Given the description of an element on the screen output the (x, y) to click on. 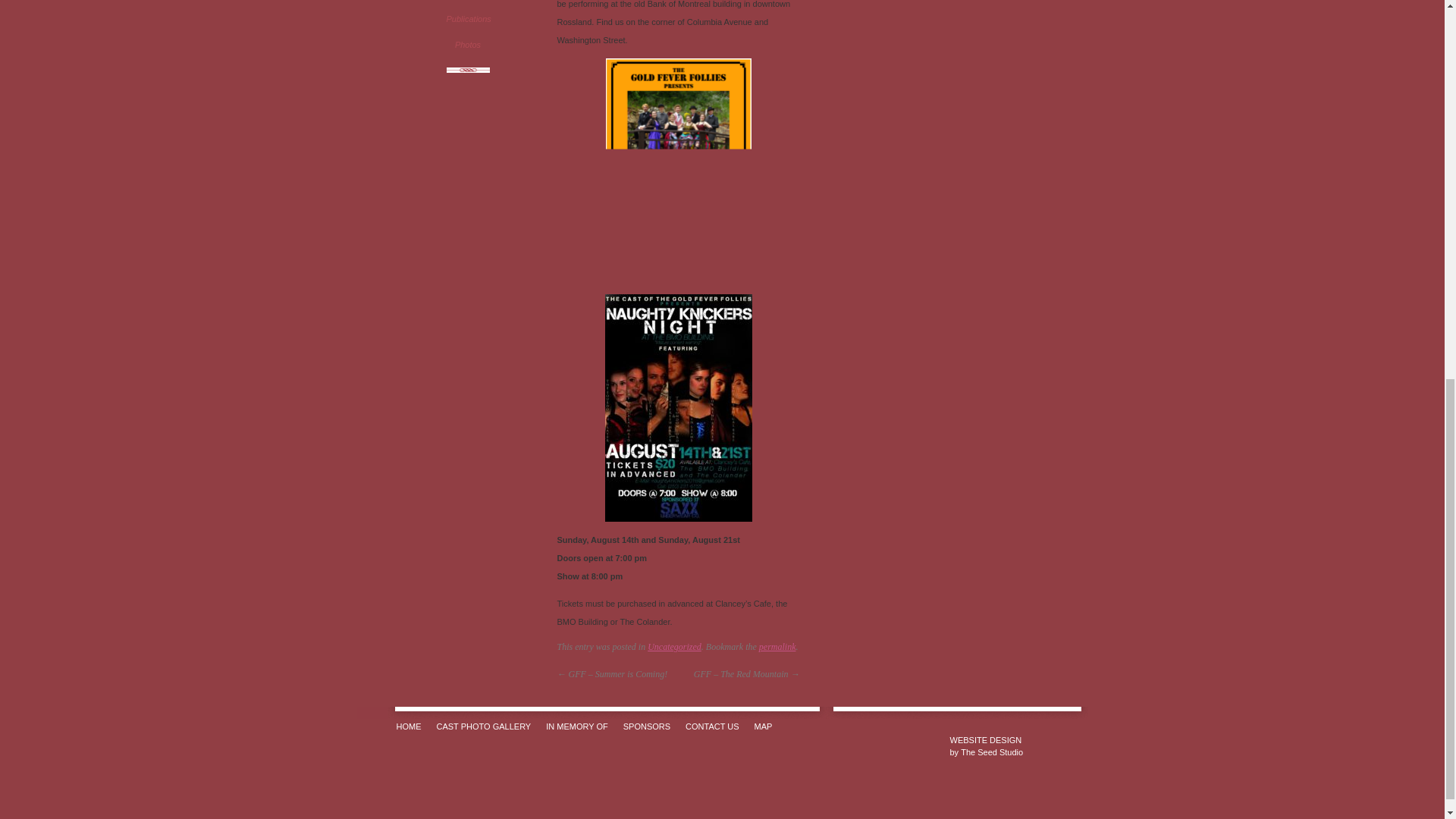
Photos (467, 44)
Uncategorized (674, 646)
permalink (777, 646)
Publications (467, 19)
The Seed Studio (985, 739)
Tourism Rossland (467, 3)
